Given the description of an element on the screen output the (x, y) to click on. 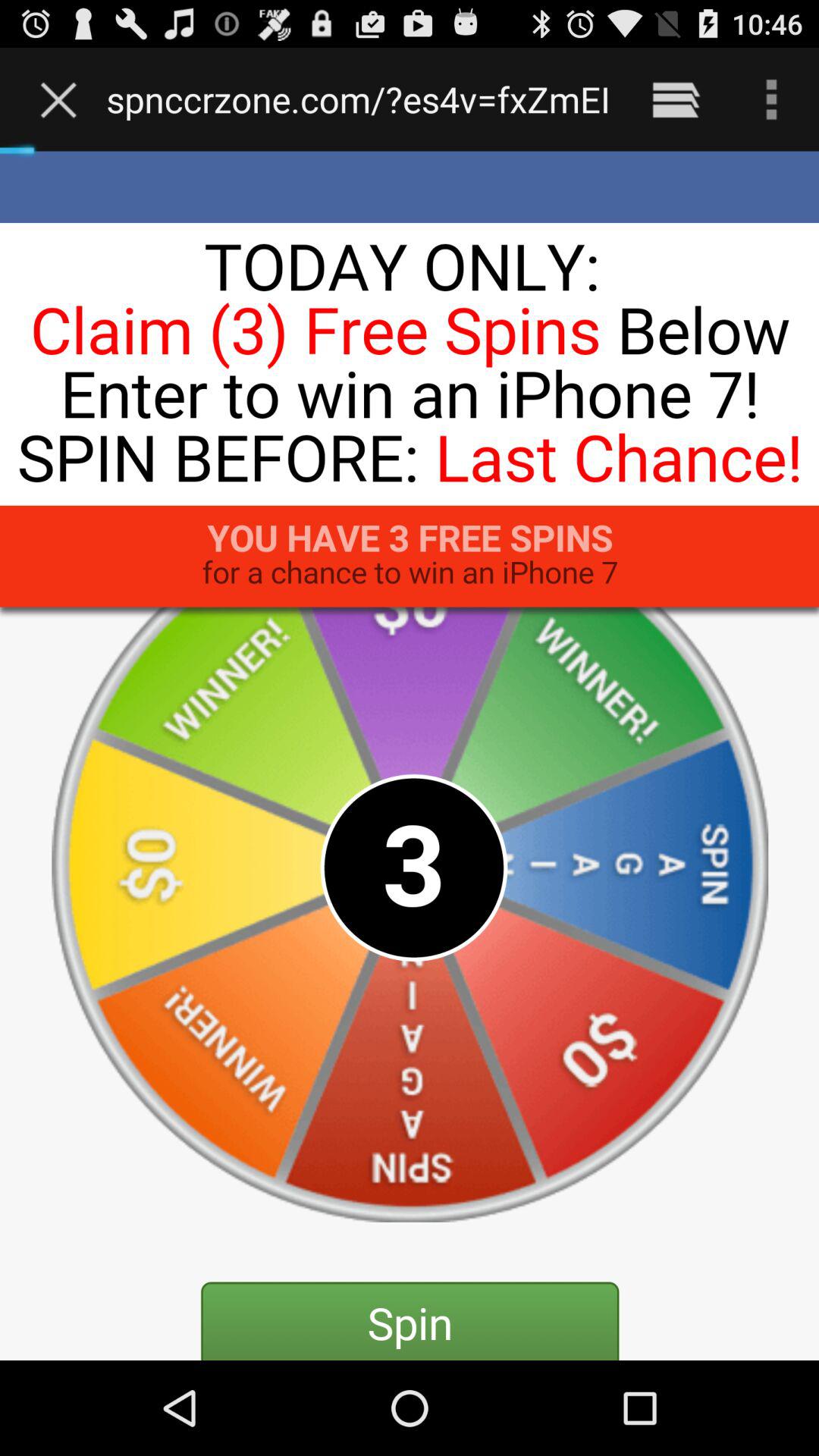
choose the icon to the right of the www electronicproductzone com icon (675, 99)
